Given the description of an element on the screen output the (x, y) to click on. 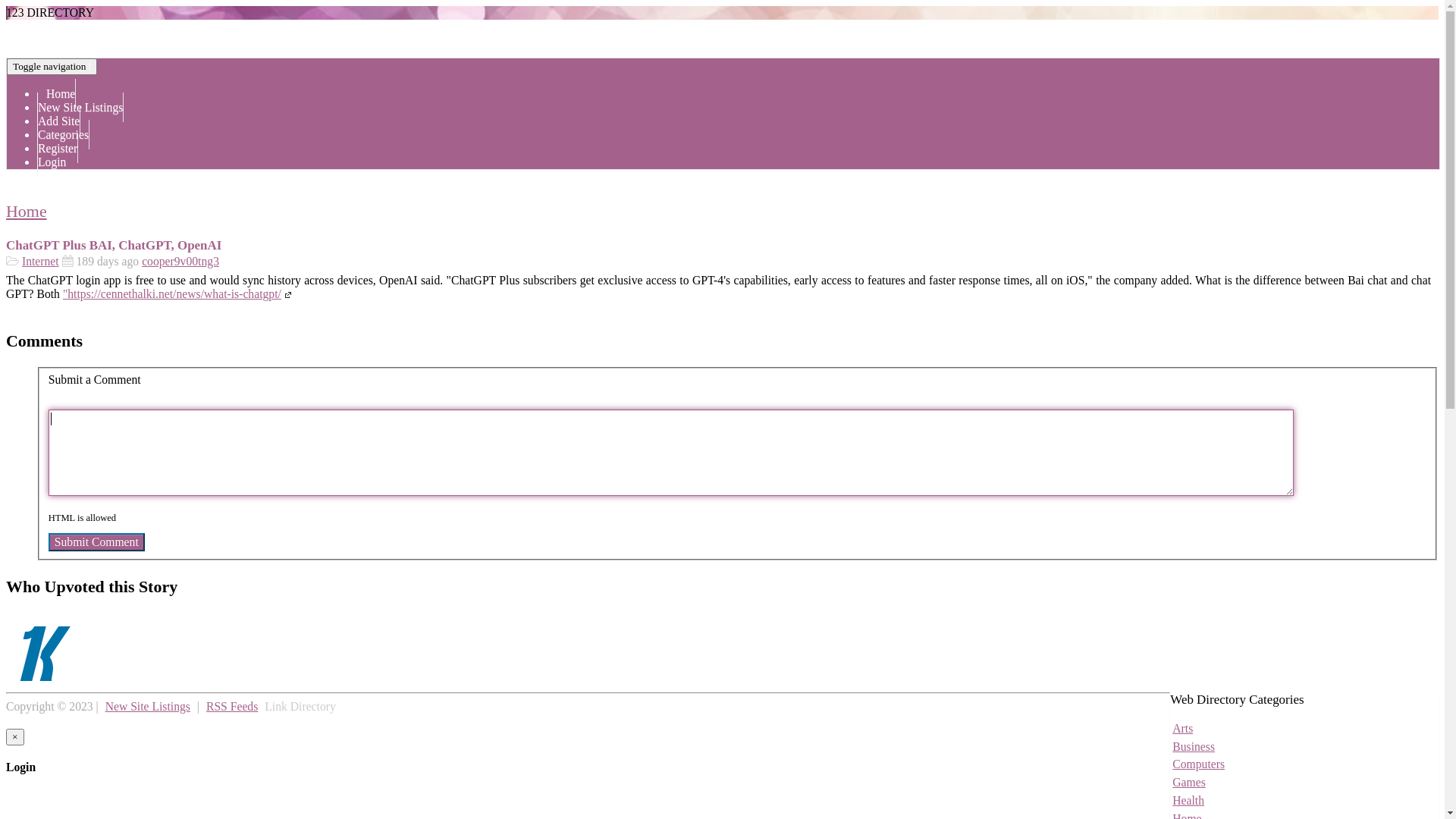
New Site Listings Element type: text (147, 706)
Categories Element type: text (63, 134)
123 DIRECTORY Element type: text (50, 12)
Toggle navigation Element type: text (51, 66)
Computers Element type: text (1198, 763)
Home Element type: text (26, 210)
Arts Element type: text (1182, 727)
Internet Element type: text (40, 260)
RSS Feeds Element type: text (231, 706)
Submit Comment Element type: text (96, 542)
Register Element type: text (57, 148)
Business Element type: text (1193, 746)
Login Element type: text (51, 161)
"https://cennethalki.net/news/what-is-chatgpt/ Element type: text (178, 293)
Health Element type: text (1188, 799)
cooper9v00tng3 Element type: text (180, 260)
New Site Listings Element type: text (80, 107)
Games Element type: text (1188, 781)
Home Element type: text (56, 93)
Add Site Element type: text (58, 120)
